Given the description of an element on the screen output the (x, y) to click on. 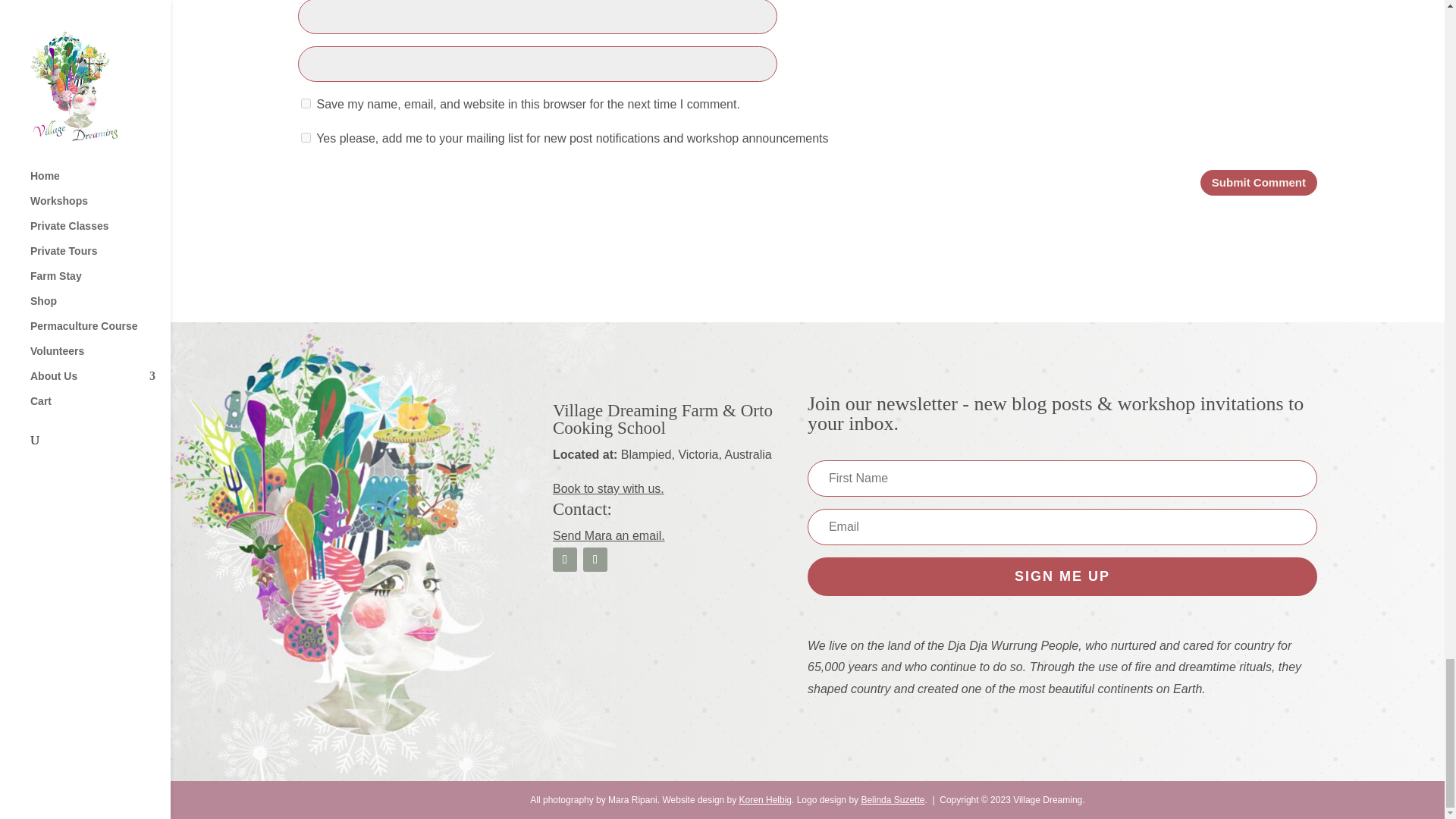
Follow on Instagram (595, 559)
yes (306, 103)
1 (306, 137)
Follow on Facebook (564, 559)
